Given the description of an element on the screen output the (x, y) to click on. 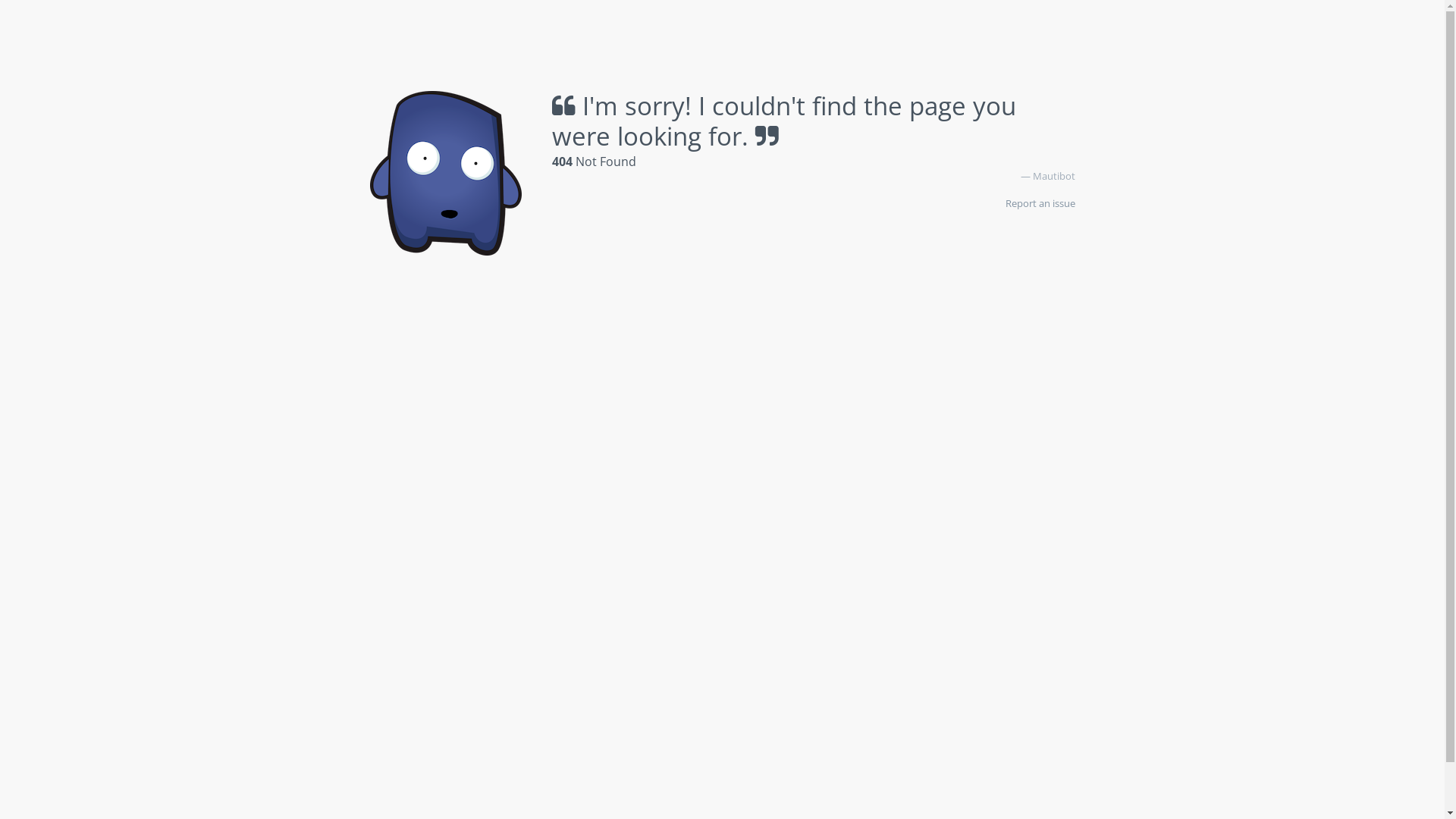
Report an issue Element type: text (1040, 203)
